Given the description of an element on the screen output the (x, y) to click on. 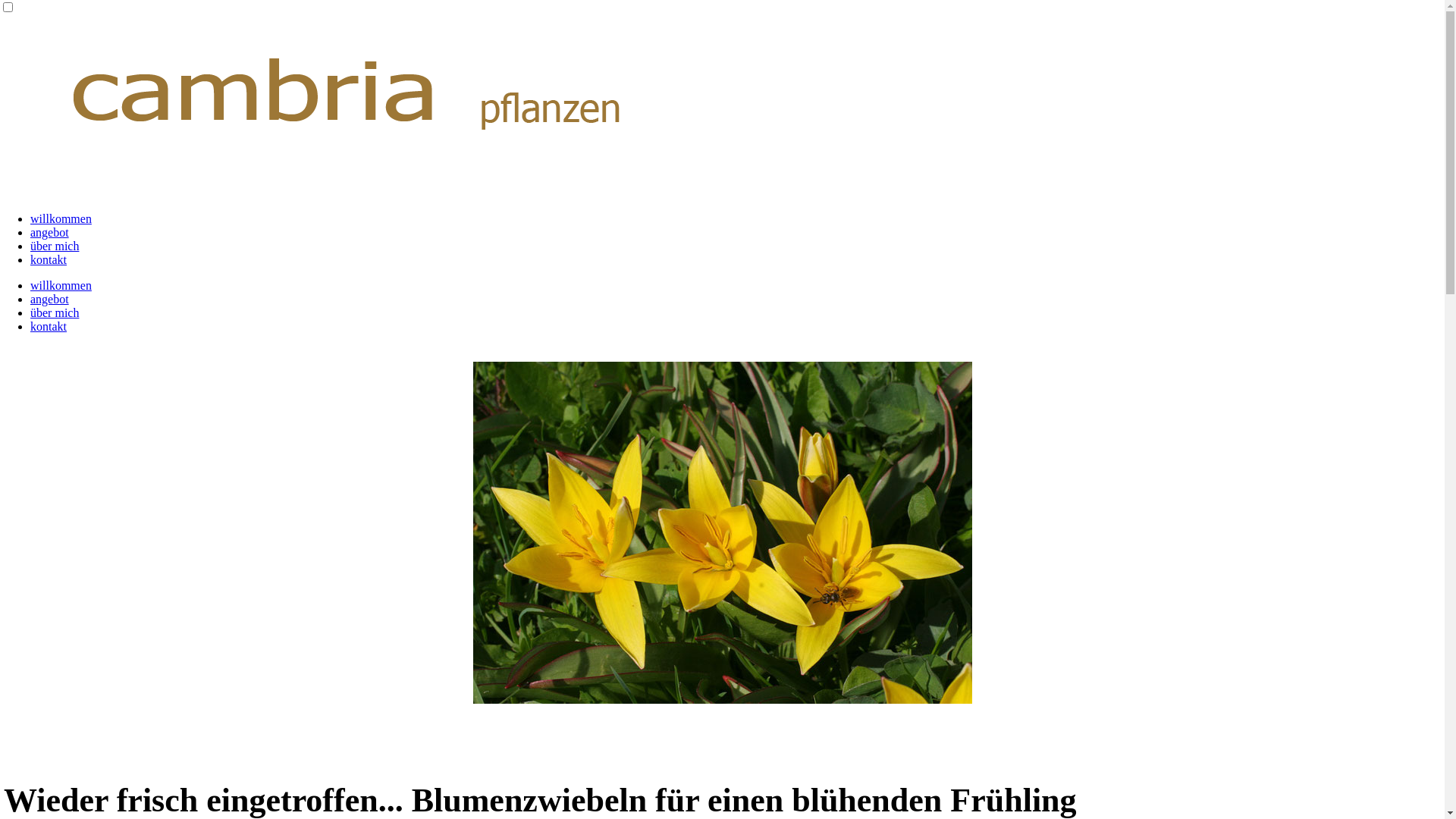
angebot Element type: text (49, 298)
willkommen Element type: text (60, 285)
willkommen Element type: text (60, 218)
angebot Element type: text (49, 231)
kontakt Element type: text (48, 326)
kontakt Element type: text (48, 259)
